Given the description of an element on the screen output the (x, y) to click on. 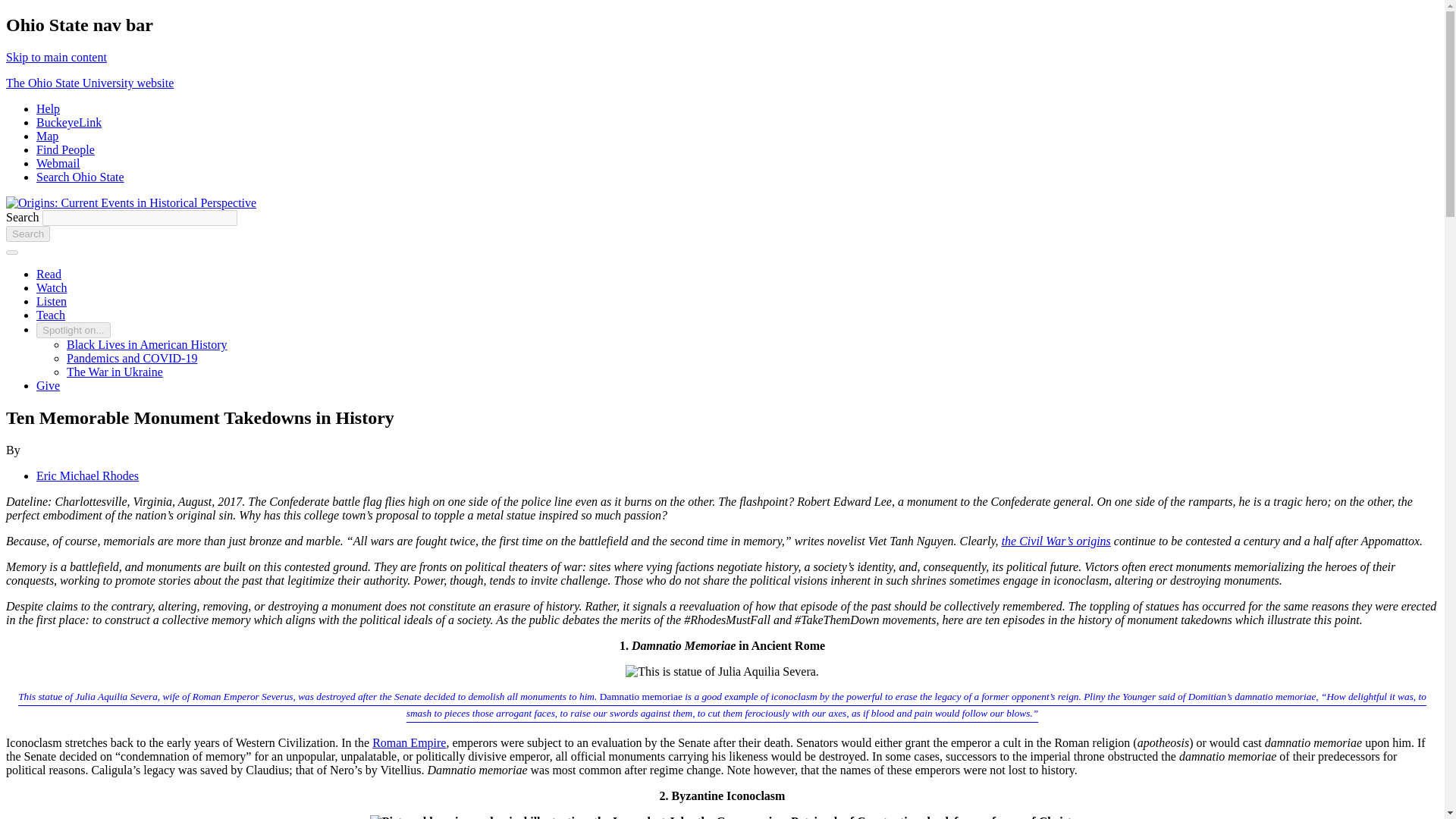
Spotlight on... (73, 330)
Home (130, 202)
Skip to main content (55, 56)
Watch (51, 287)
BuckeyeLink (68, 122)
Pandemics and COVID-19 (131, 358)
The Ohio State University website (89, 82)
Webmail (58, 163)
Map (47, 135)
The War in Ukraine (114, 371)
Teach (50, 314)
Search (27, 233)
Read (48, 273)
Roman Empire (408, 742)
Find People (65, 149)
